Given the description of an element on the screen output the (x, y) to click on. 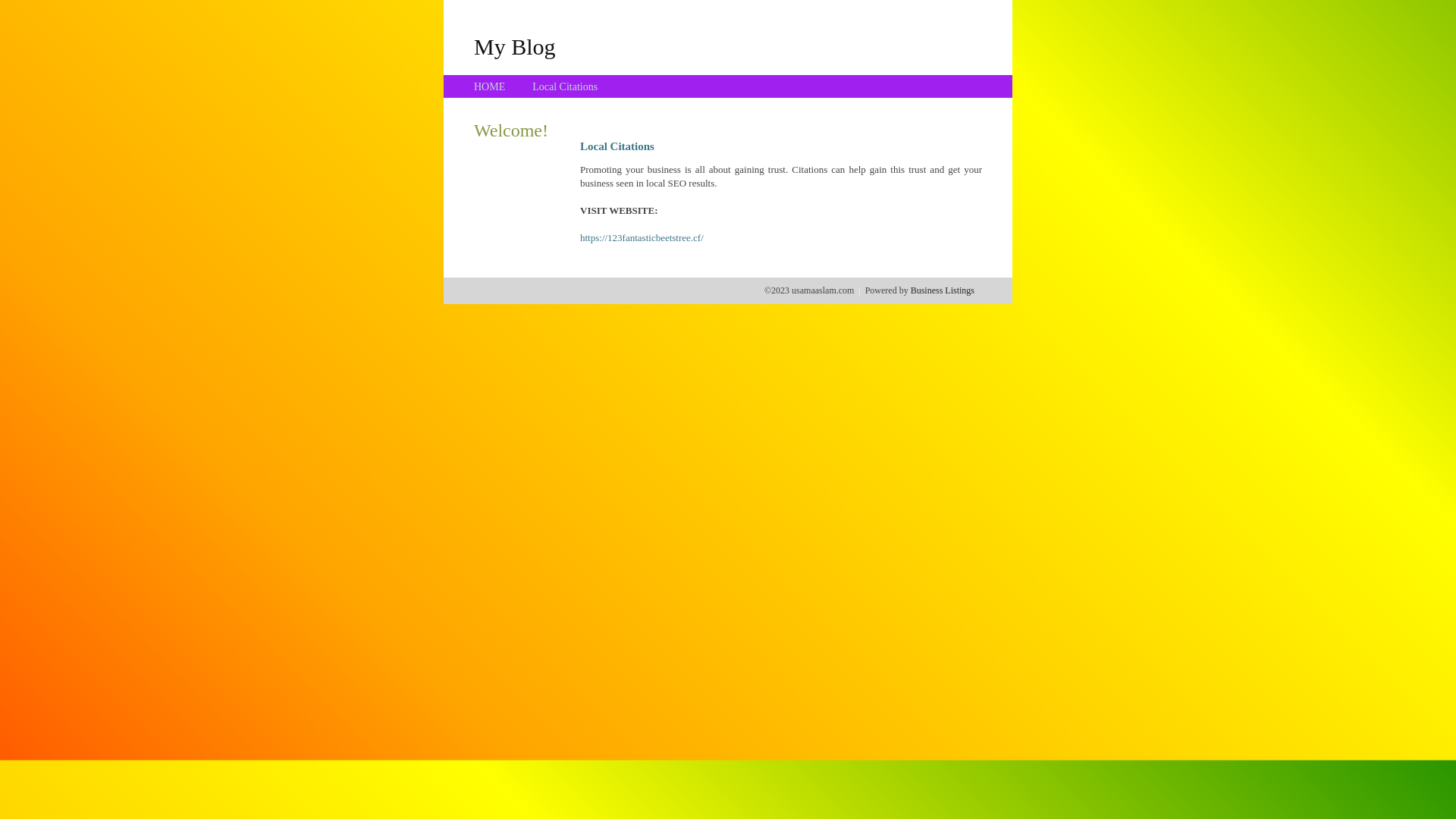
Local Citations Element type: text (564, 86)
https://123fantasticbeetstree.cf/ Element type: text (641, 237)
HOME Element type: text (489, 86)
Business Listings Element type: text (942, 290)
My Blog Element type: text (514, 46)
